Given the description of an element on the screen output the (x, y) to click on. 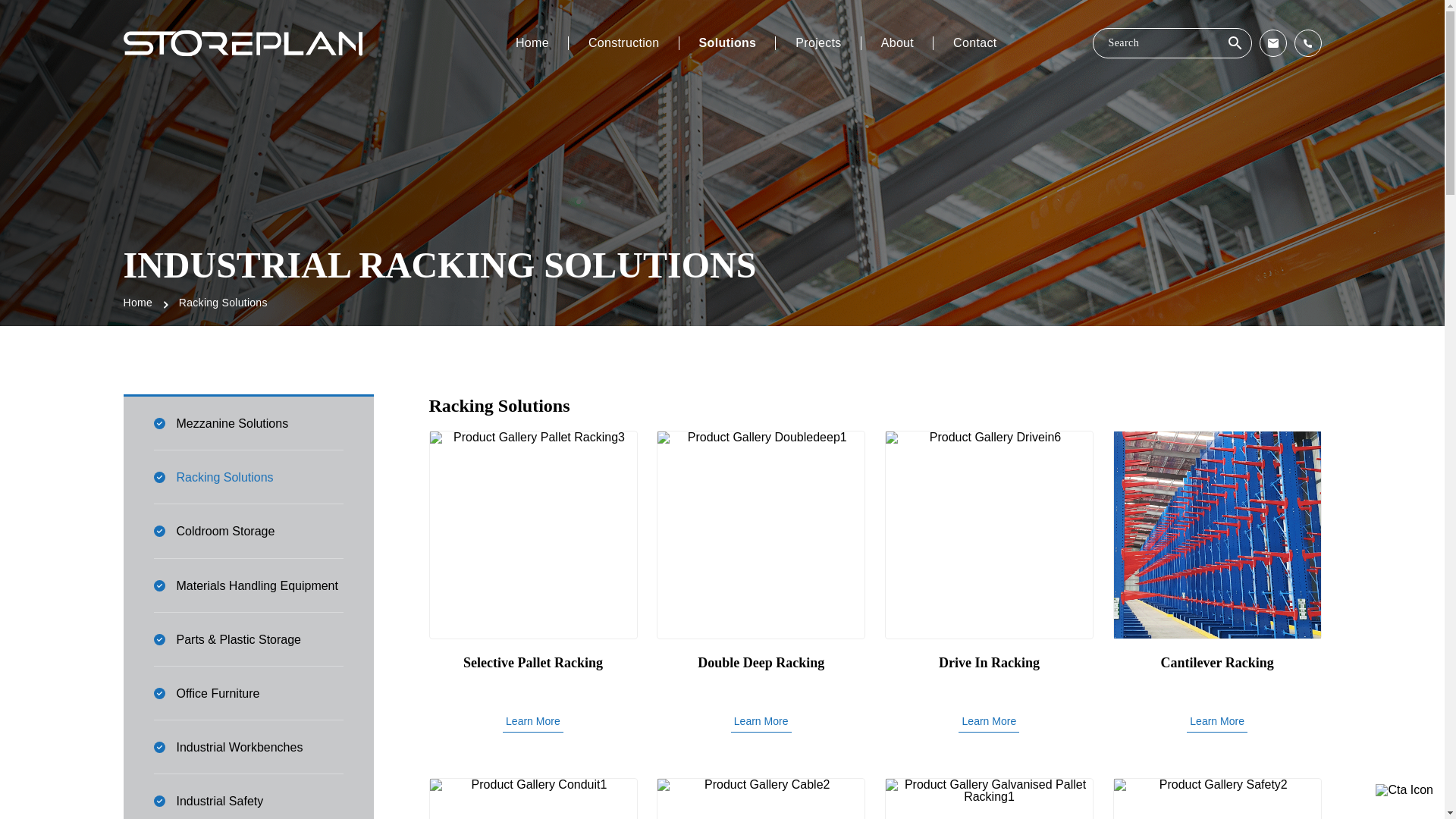
Home (532, 43)
Construction (624, 43)
Solutions (727, 43)
